Given the description of an element on the screen output the (x, y) to click on. 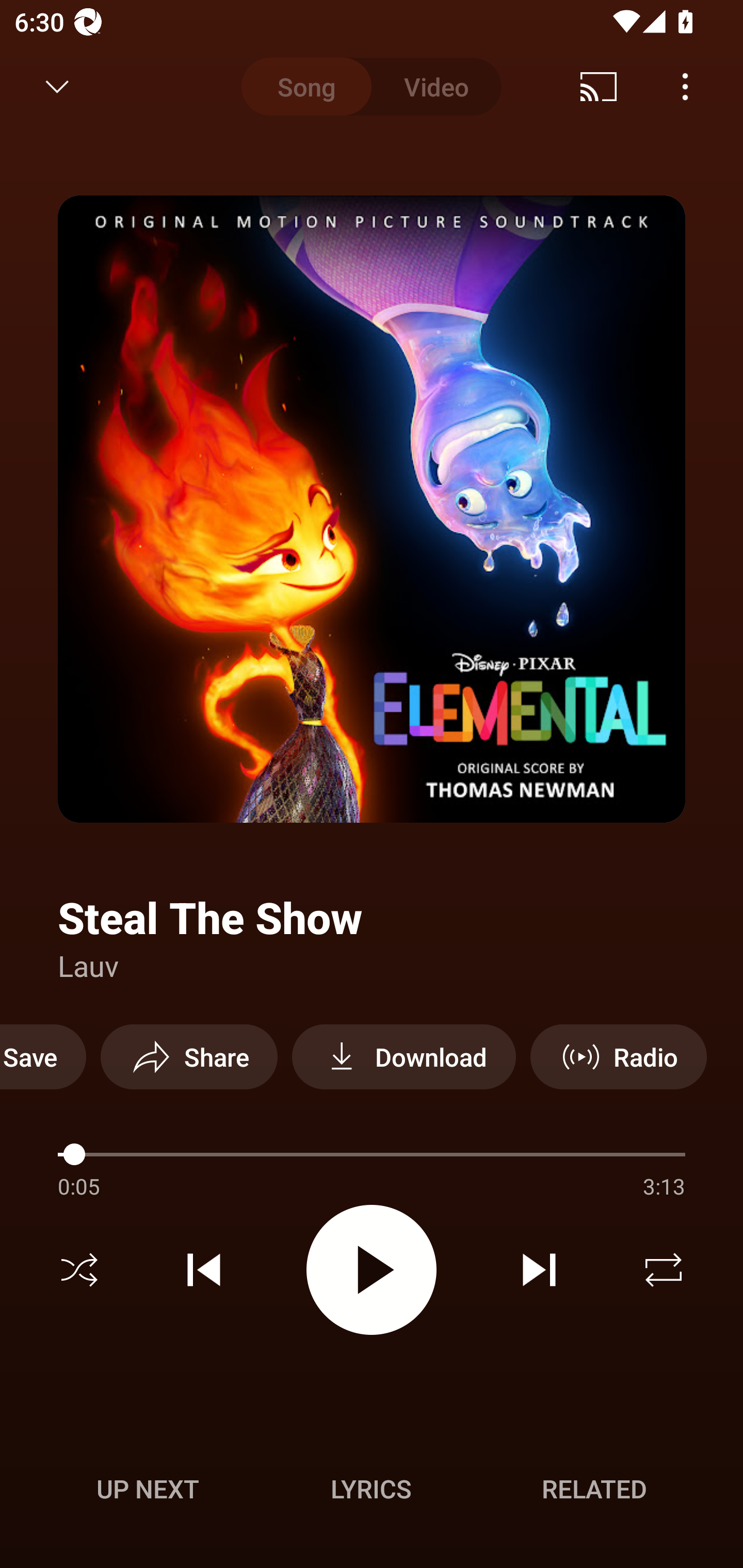
Minimize (57, 86)
Cast. Disconnected (598, 86)
Menu (684, 86)
Save Save to playlist (43, 1056)
Share (188, 1056)
Download (403, 1056)
Radio (618, 1056)
Play video (371, 1269)
Shuffle off (79, 1269)
Previous track (203, 1269)
Next track (538, 1269)
Repeat off (663, 1269)
Up next UP NEXT Lyrics LYRICS Related RELATED (371, 1491)
Lyrics LYRICS (370, 1488)
Related RELATED (594, 1488)
